Given the description of an element on the screen output the (x, y) to click on. 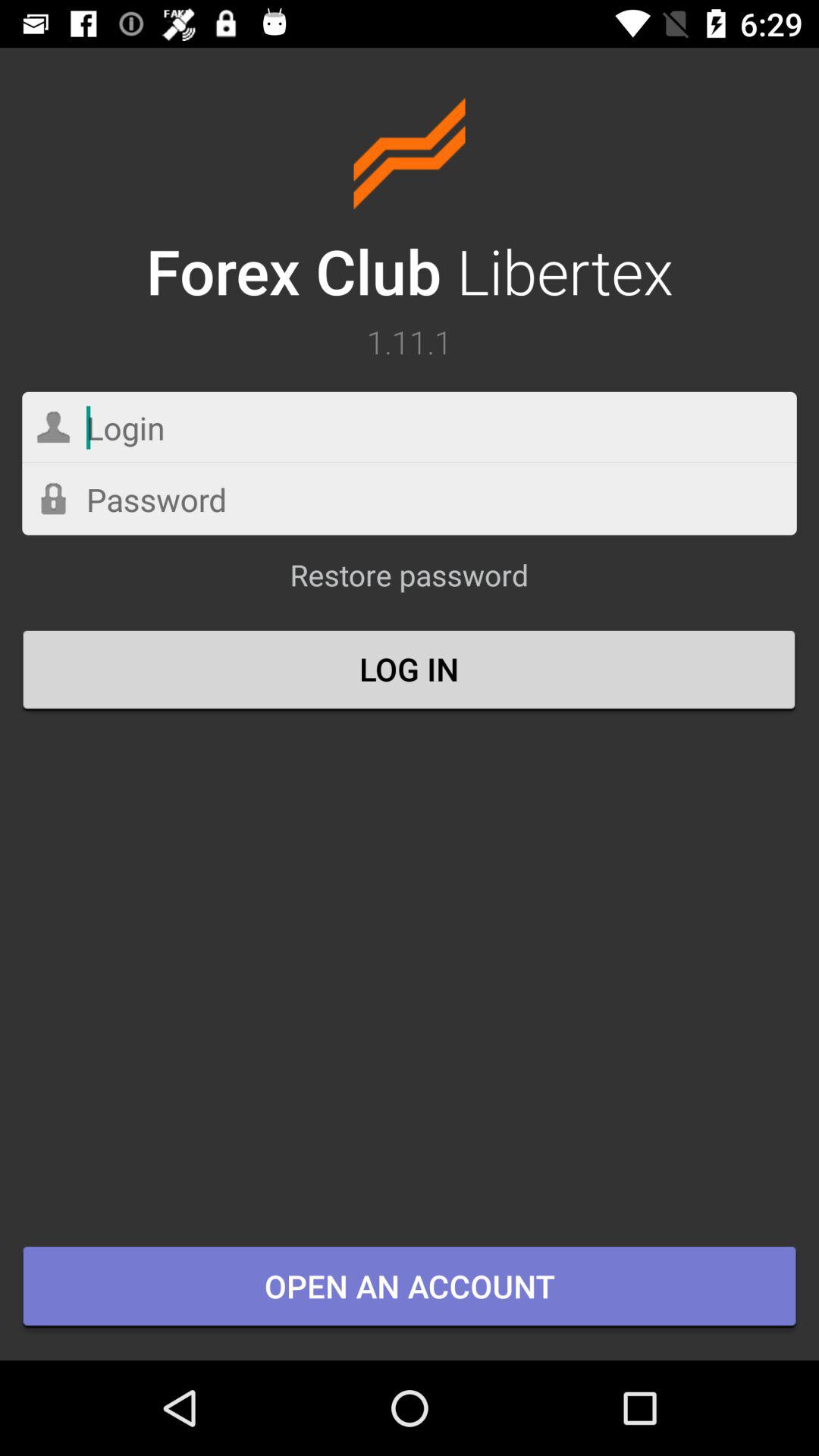
press the restore password (409, 582)
